Given the description of an element on the screen output the (x, y) to click on. 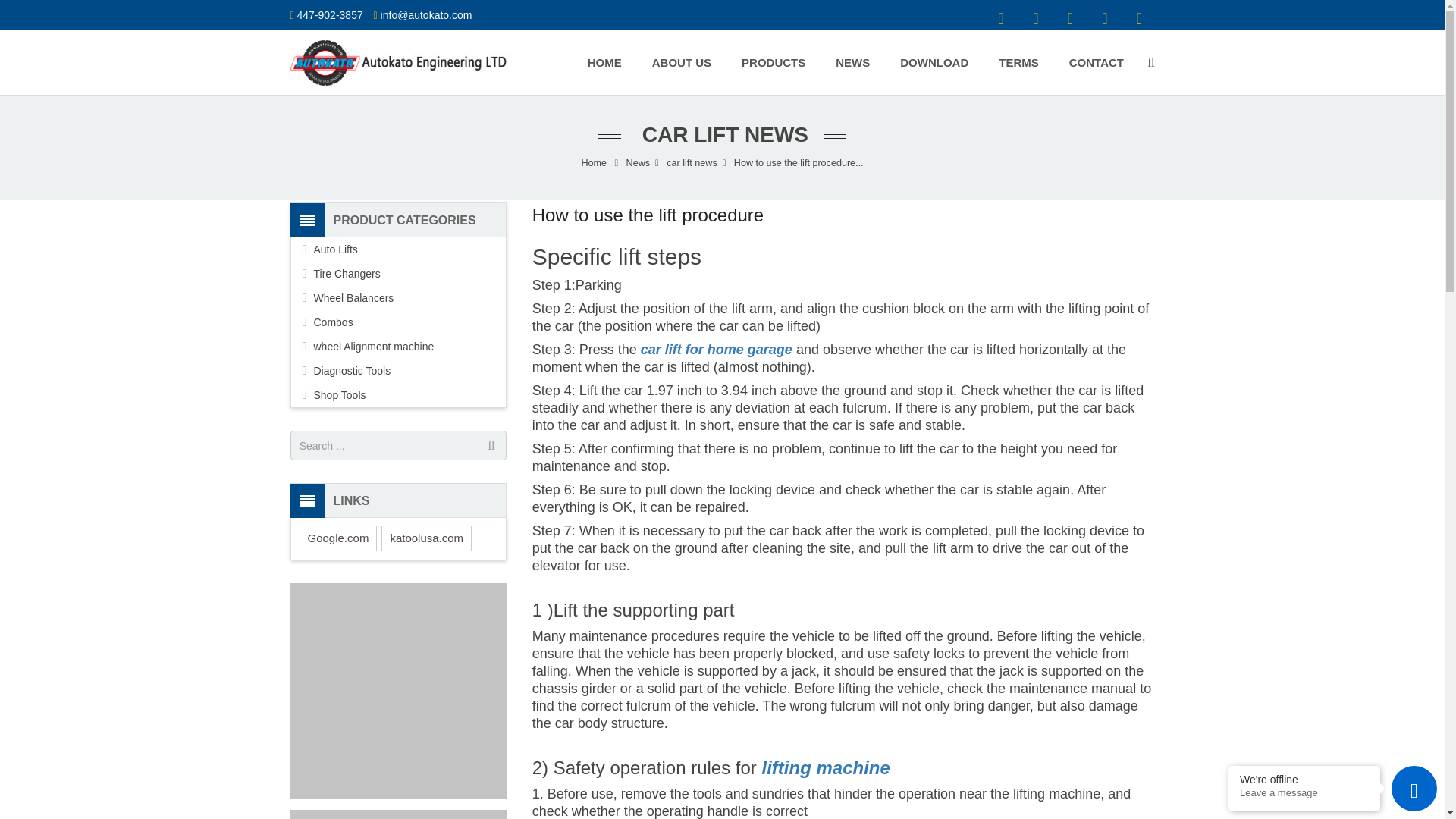
About us (681, 62)
News (853, 62)
HOME (604, 62)
car lift for home garage (716, 349)
car lift news (691, 163)
447-902-3857 (329, 15)
News (638, 163)
ABOUT US (681, 62)
lifting machine  (828, 767)
Home (604, 62)
Download (934, 62)
CAR LIFT NEWS (722, 134)
Products (773, 62)
PRODUCTS (773, 62)
TERMS (1019, 62)
